Given the description of an element on the screen output the (x, y) to click on. 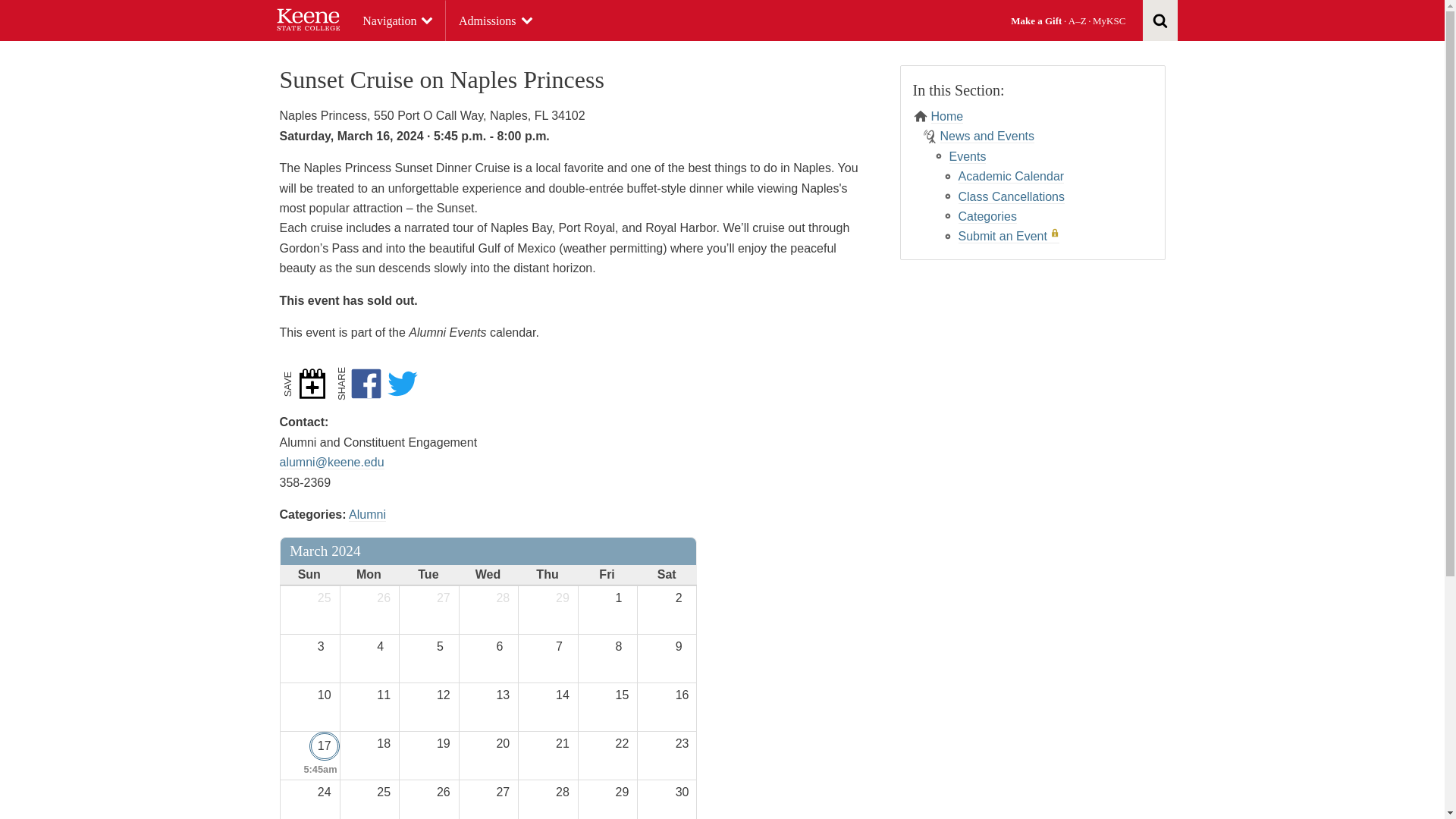
Admissions (495, 20)
25 (325, 598)
Thu (546, 574)
10 (325, 695)
29 (564, 598)
2 (683, 598)
3 (325, 646)
14 (564, 695)
